Given the description of an element on the screen output the (x, y) to click on. 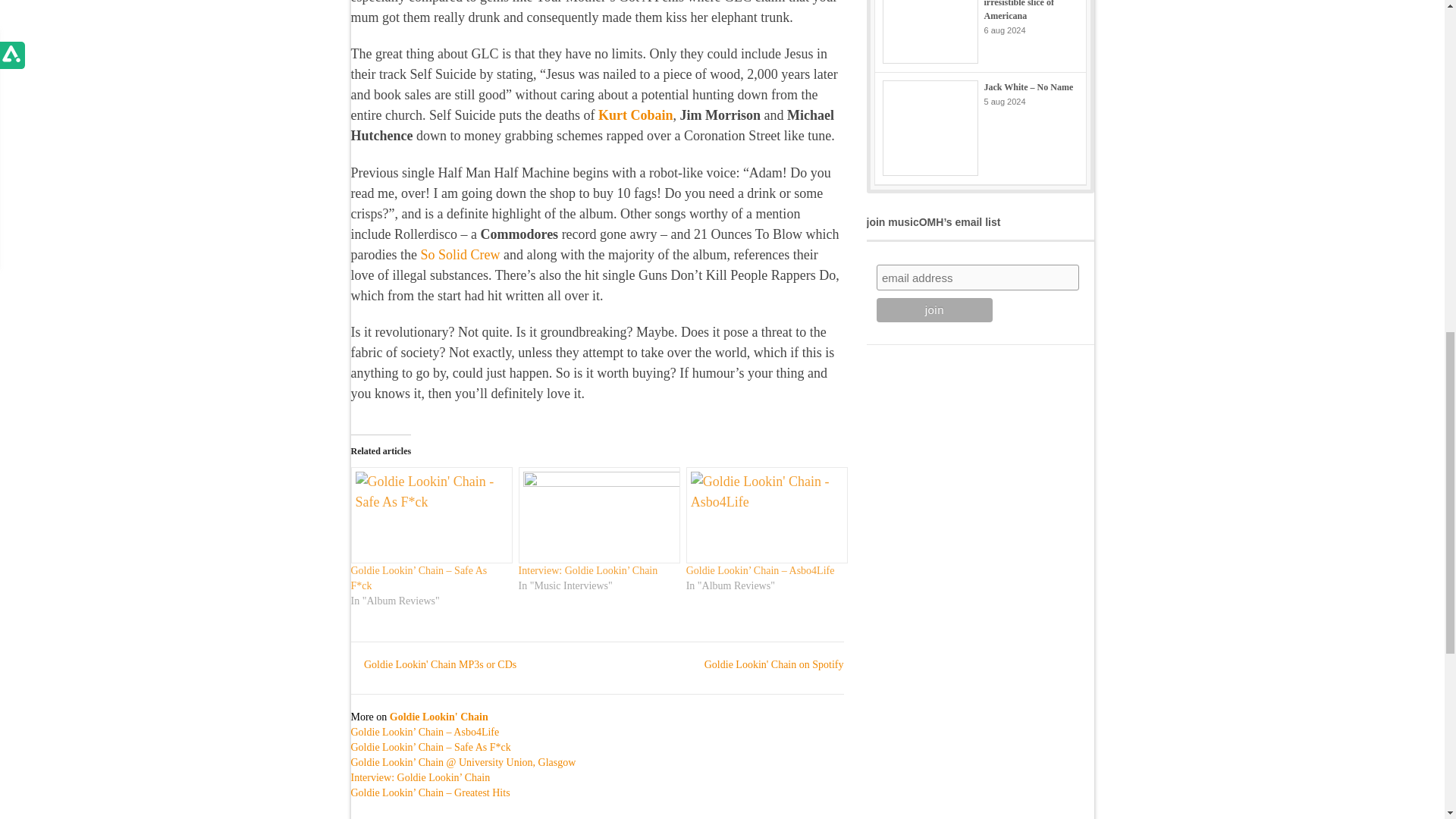
join (934, 310)
Kurt Cobain (635, 114)
Goldie Lookin' Chain MP3s or CDs (433, 664)
Goldie Lookin' Chain (438, 716)
So Solid Crew (459, 254)
Goldie Lookin' Chain on Spotify (766, 664)
